Given the description of an element on the screen output the (x, y) to click on. 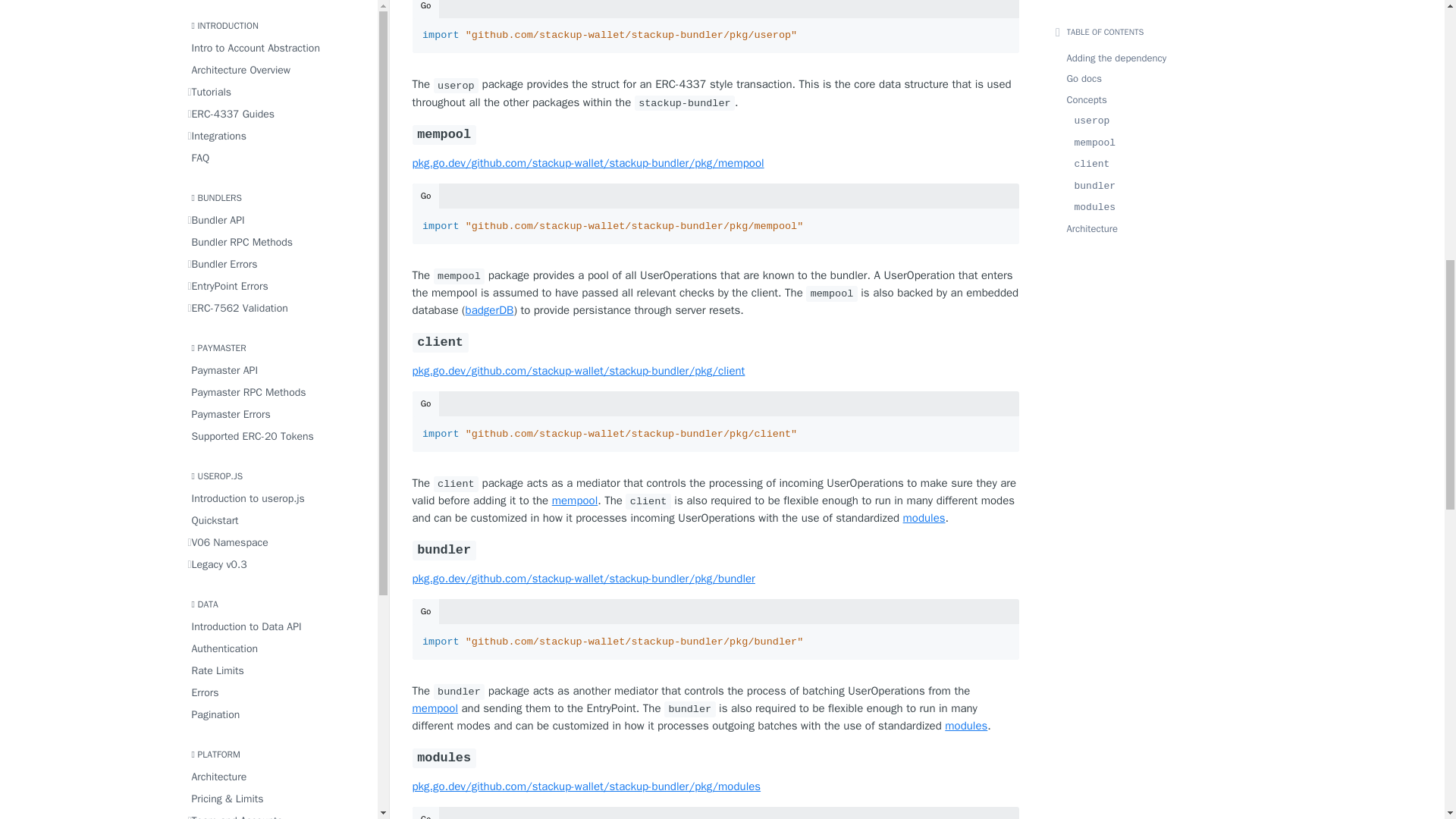
mempool (715, 134)
client (715, 342)
bundler (715, 549)
modules (715, 757)
